Given the description of an element on the screen output the (x, y) to click on. 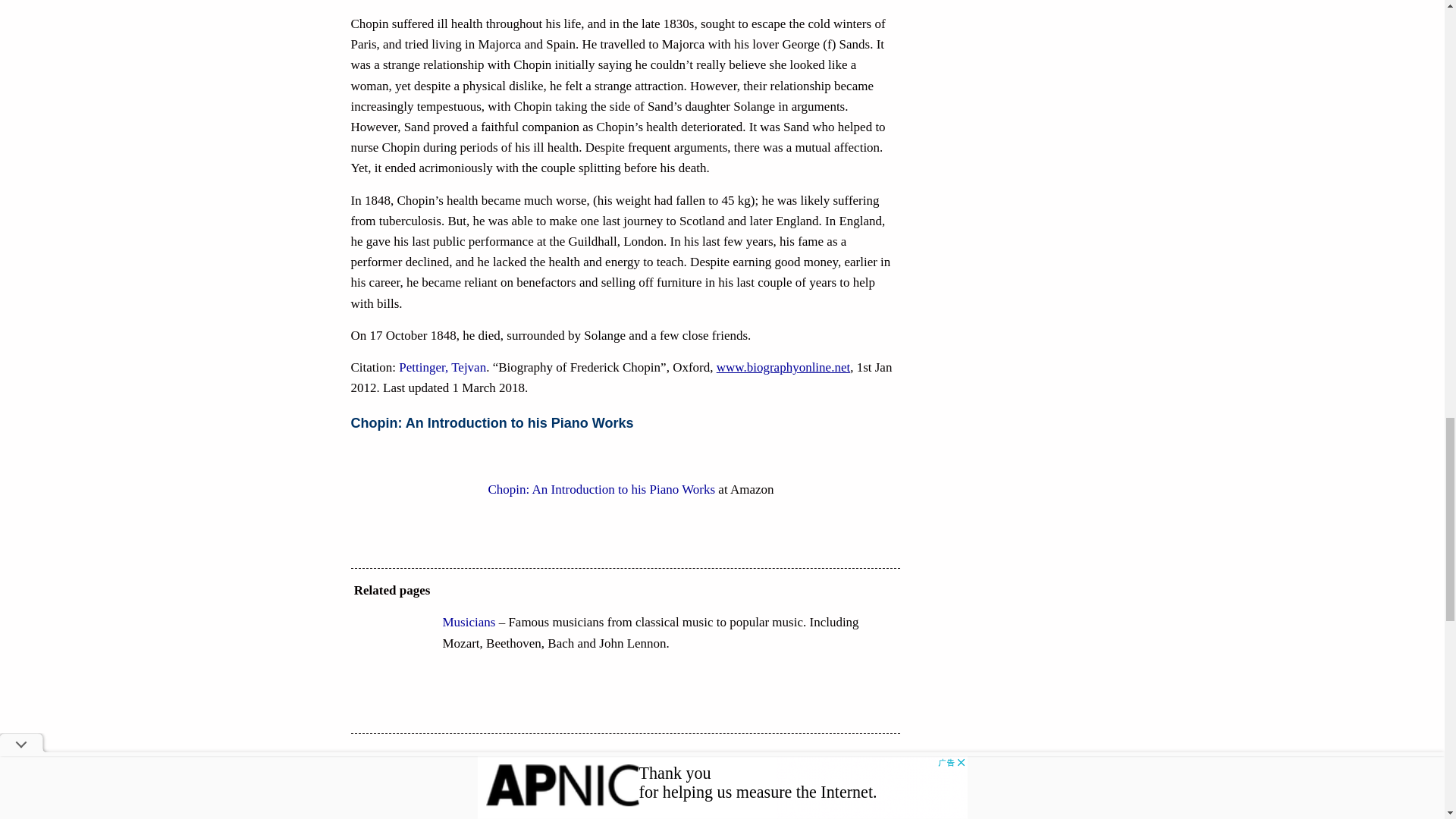
Chopin: An Introduction to his Piano Works (601, 489)
Famous Composers (493, 787)
www.biographyonline.net (783, 367)
Pettinger, Tejvan (442, 367)
Musicians (469, 622)
